Given the description of an element on the screen output the (x, y) to click on. 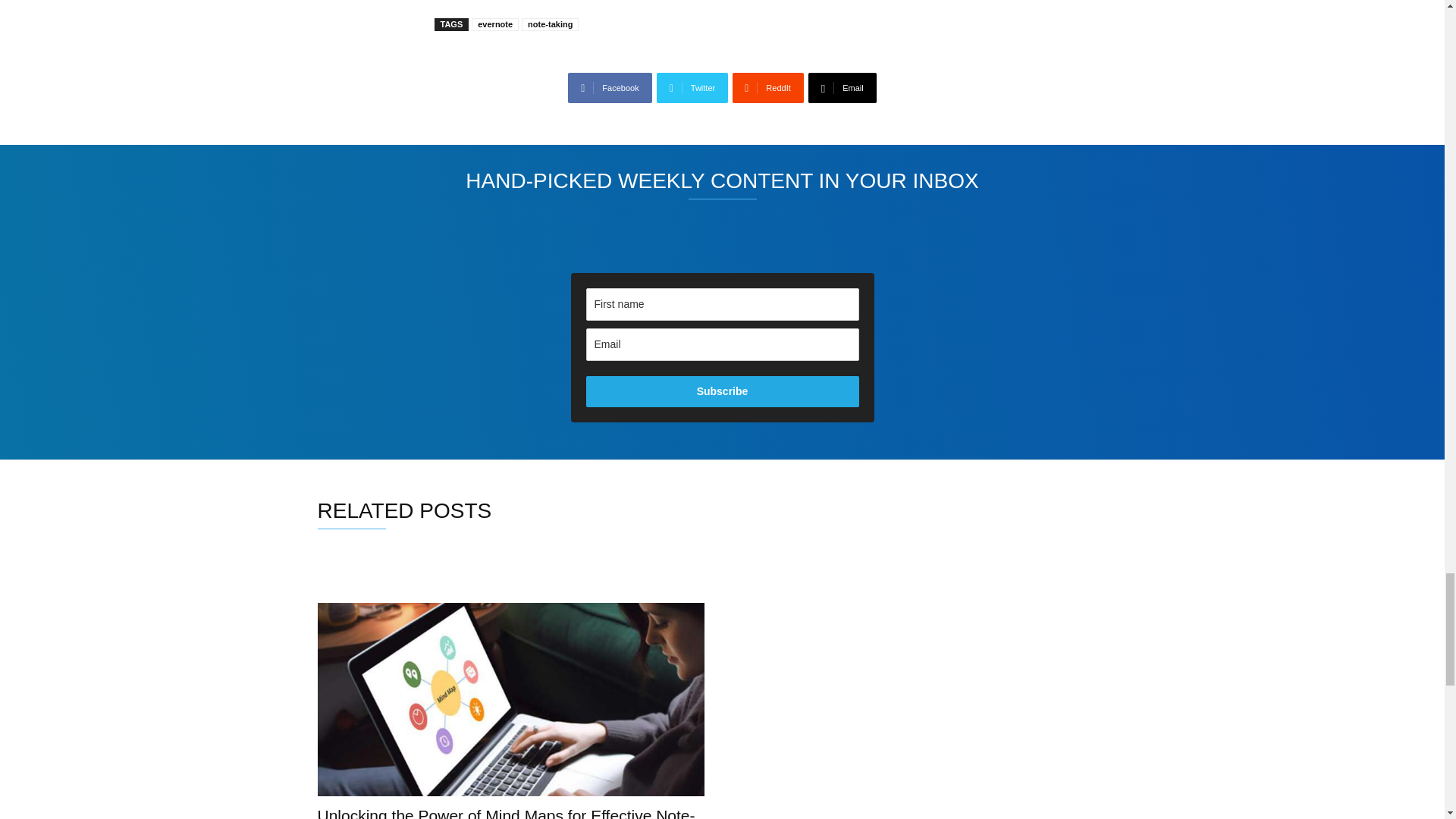
ReddIt (767, 87)
Unlocking the Power of Mind Maps for Effective Note-Taking (505, 812)
Email (842, 87)
Twitter (692, 87)
Facebook (608, 87)
Unlocking the Power of Mind Maps for Effective Note-Taking (510, 699)
